Given the description of an element on the screen output the (x, y) to click on. 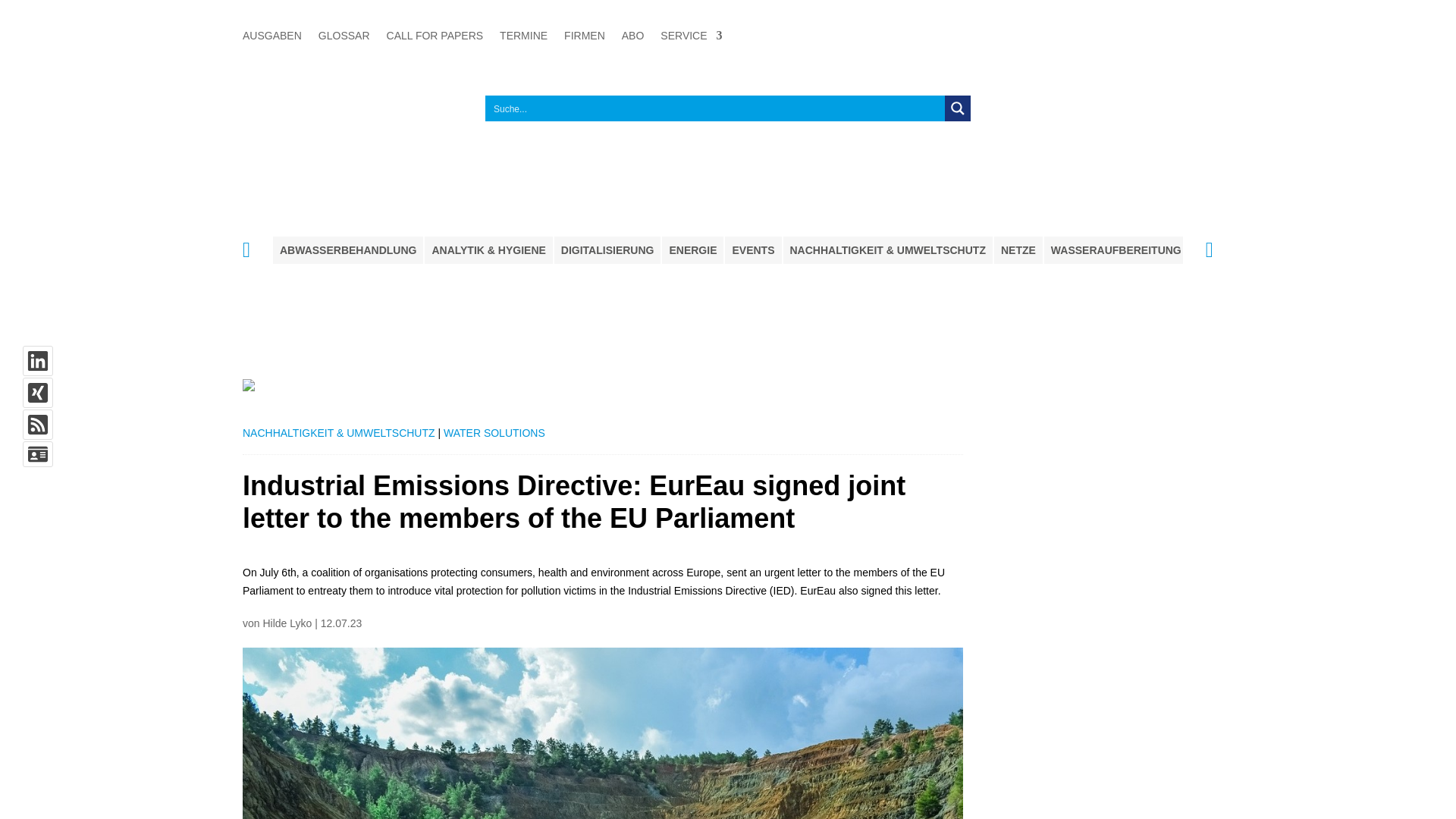
DIGITALISIERUNG (607, 249)
ABO (633, 38)
WASSERSTRESS (1369, 249)
TERMINE (523, 38)
Hilde Lyko (286, 623)
Acid lake from mining (602, 733)
EVENTS (752, 249)
ABWASSERBEHANDLUNG (348, 249)
AUSGABEN (272, 38)
NETZE (1018, 249)
WASSERAUFBEREITUNG (1115, 249)
SERVICE (691, 38)
ENERGIE (692, 249)
GLOSSAR (343, 38)
WATER SOLUTIONS (494, 432)
